Given the description of an element on the screen output the (x, y) to click on. 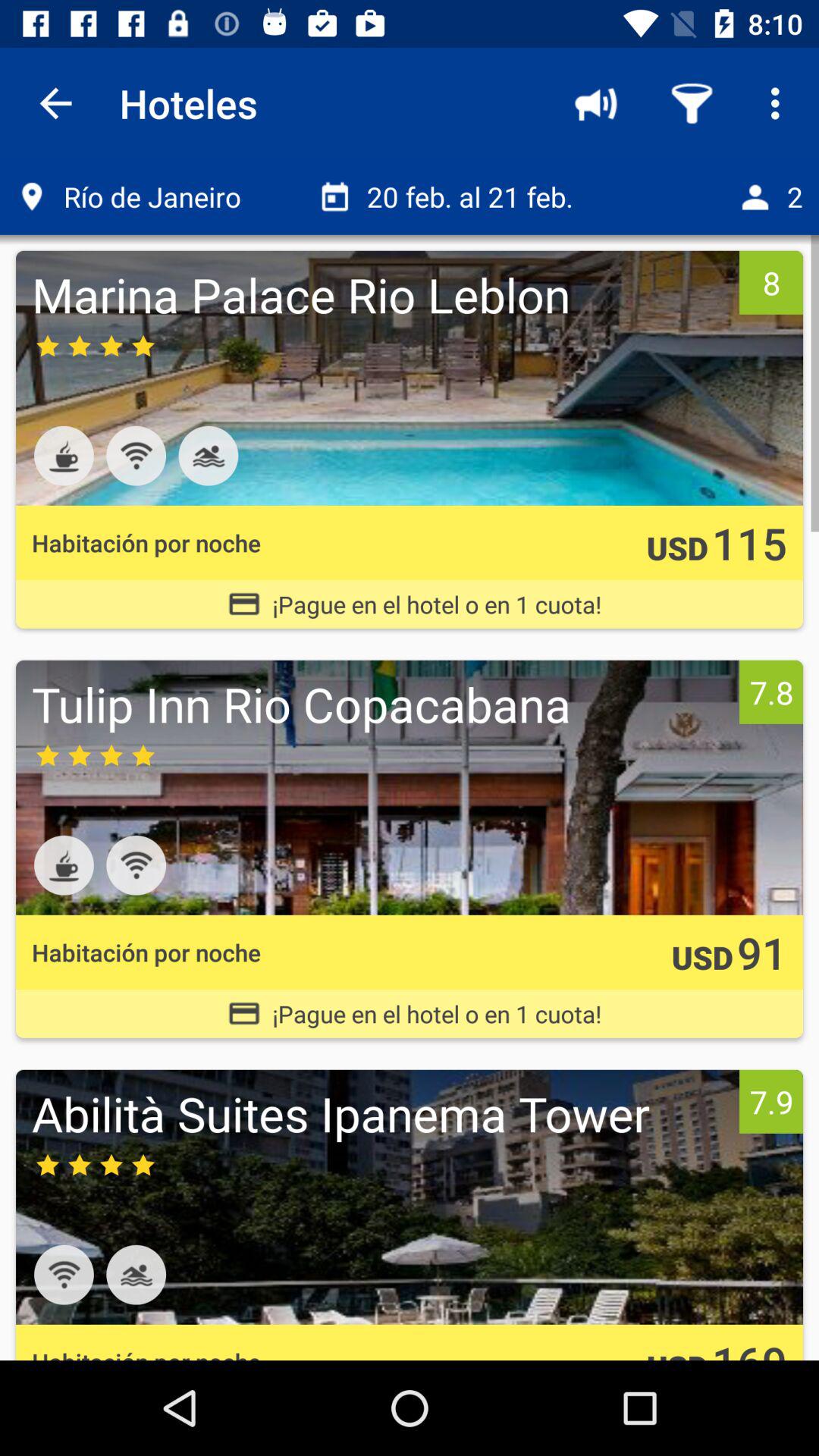
launch marina palace rio item (381, 294)
